Given the description of an element on the screen output the (x, y) to click on. 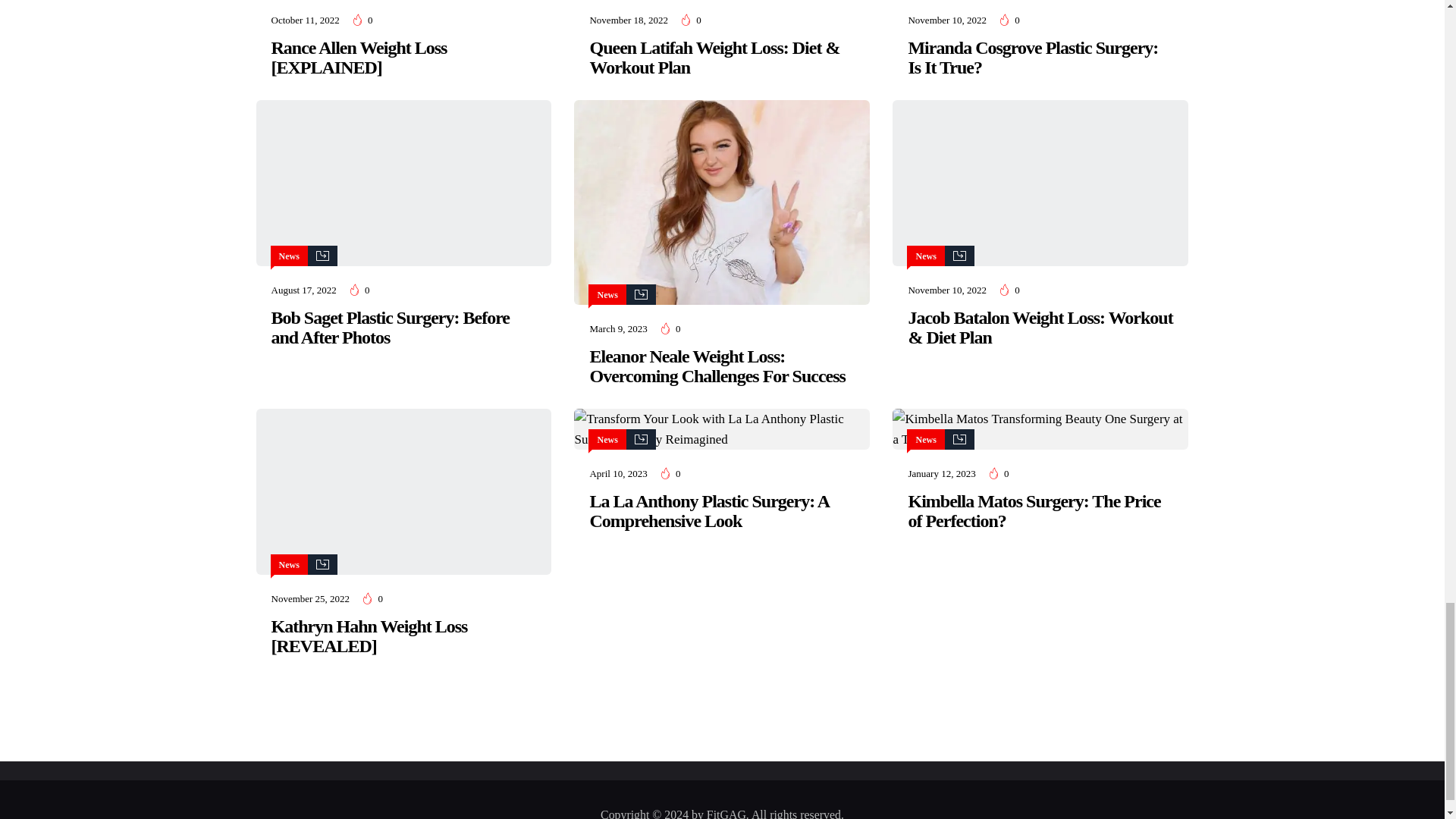
Like (363, 19)
Bob Saget Plastic Surgery: Before and After Photos (403, 182)
View all posts in News (289, 255)
Like (360, 289)
Like (691, 19)
Like (1010, 19)
